Given the description of an element on the screen output the (x, y) to click on. 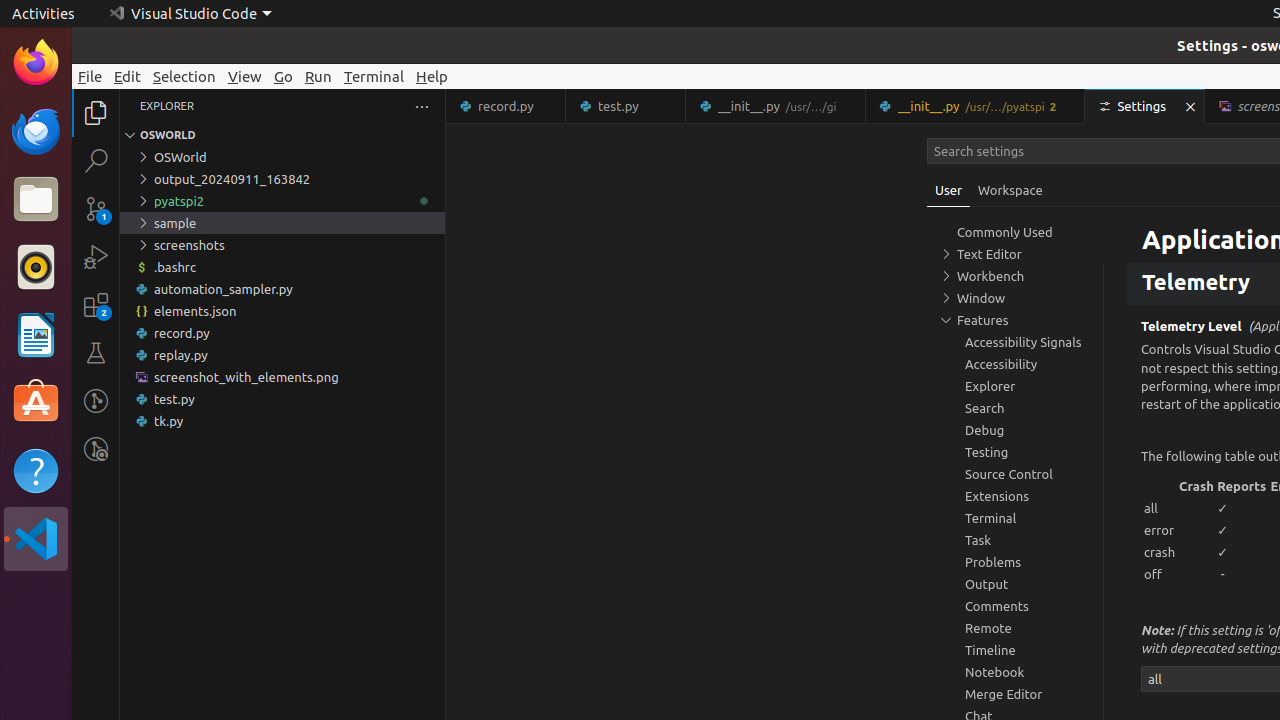
Merge Editor, group Element type: tree-item (1015, 694)
Selection Element type: push-button (184, 76)
Run and Debug (Ctrl+Shift+D) Element type: page-tab (96, 257)
Accessibility, group Element type: tree-item (1015, 364)
output_20240911_163842 Element type: tree-item (282, 179)
